Given the description of an element on the screen output the (x, y) to click on. 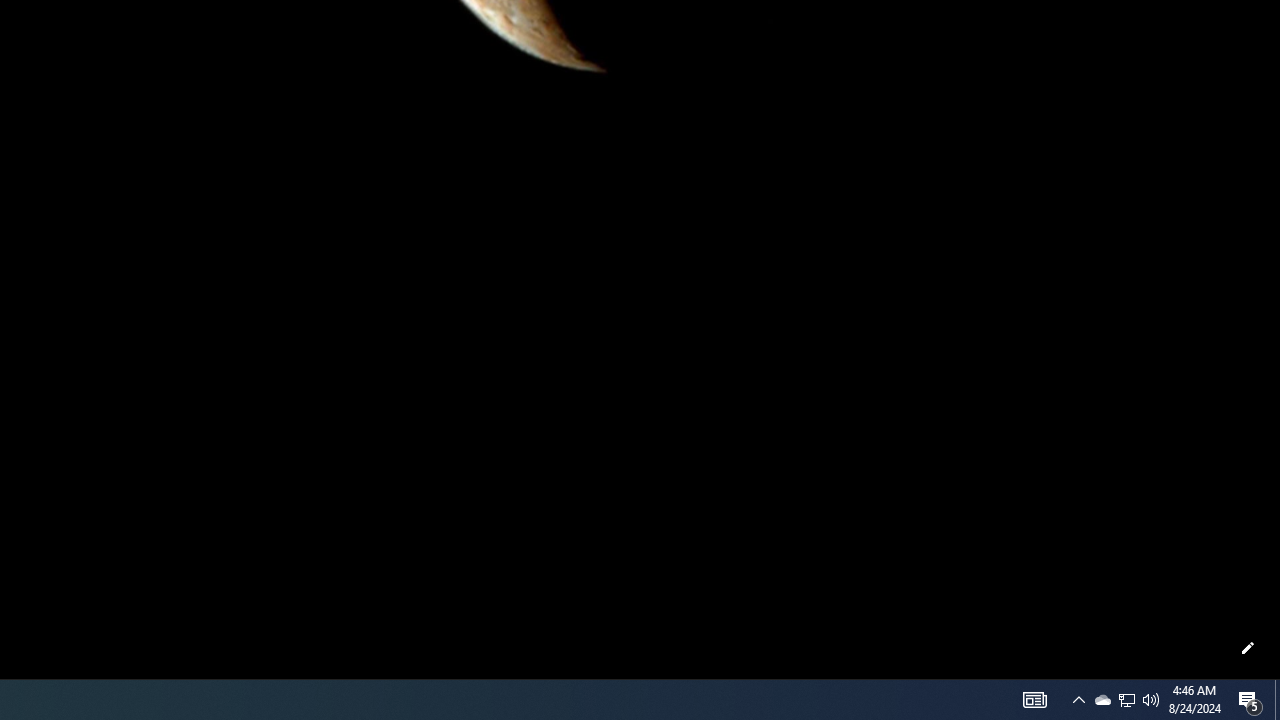
Customize this page (1247, 647)
